Given the description of an element on the screen output the (x, y) to click on. 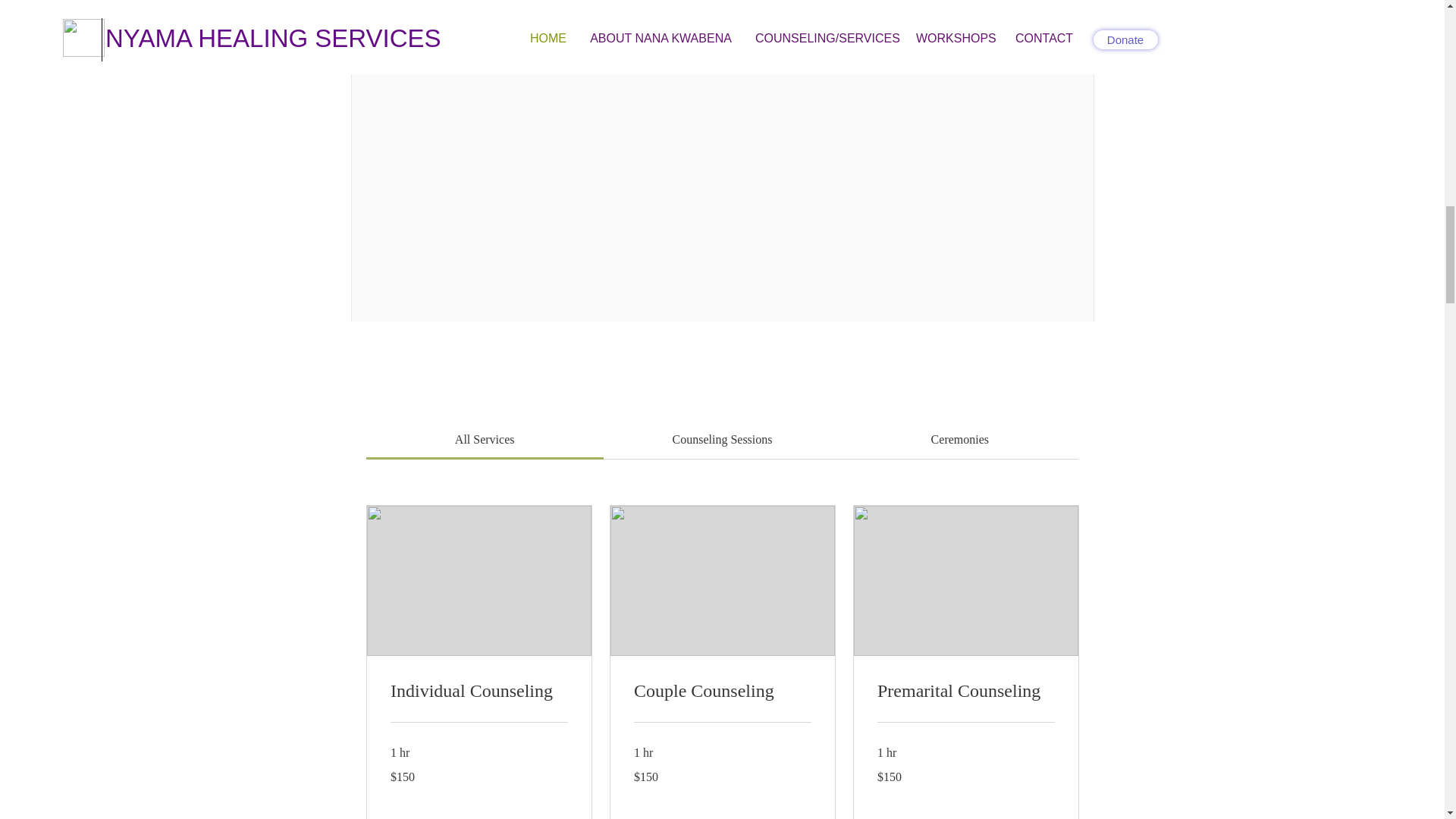
Individual Counseling (478, 691)
Premarital Counseling (965, 691)
Couple Counseling (721, 691)
